Given the description of an element on the screen output the (x, y) to click on. 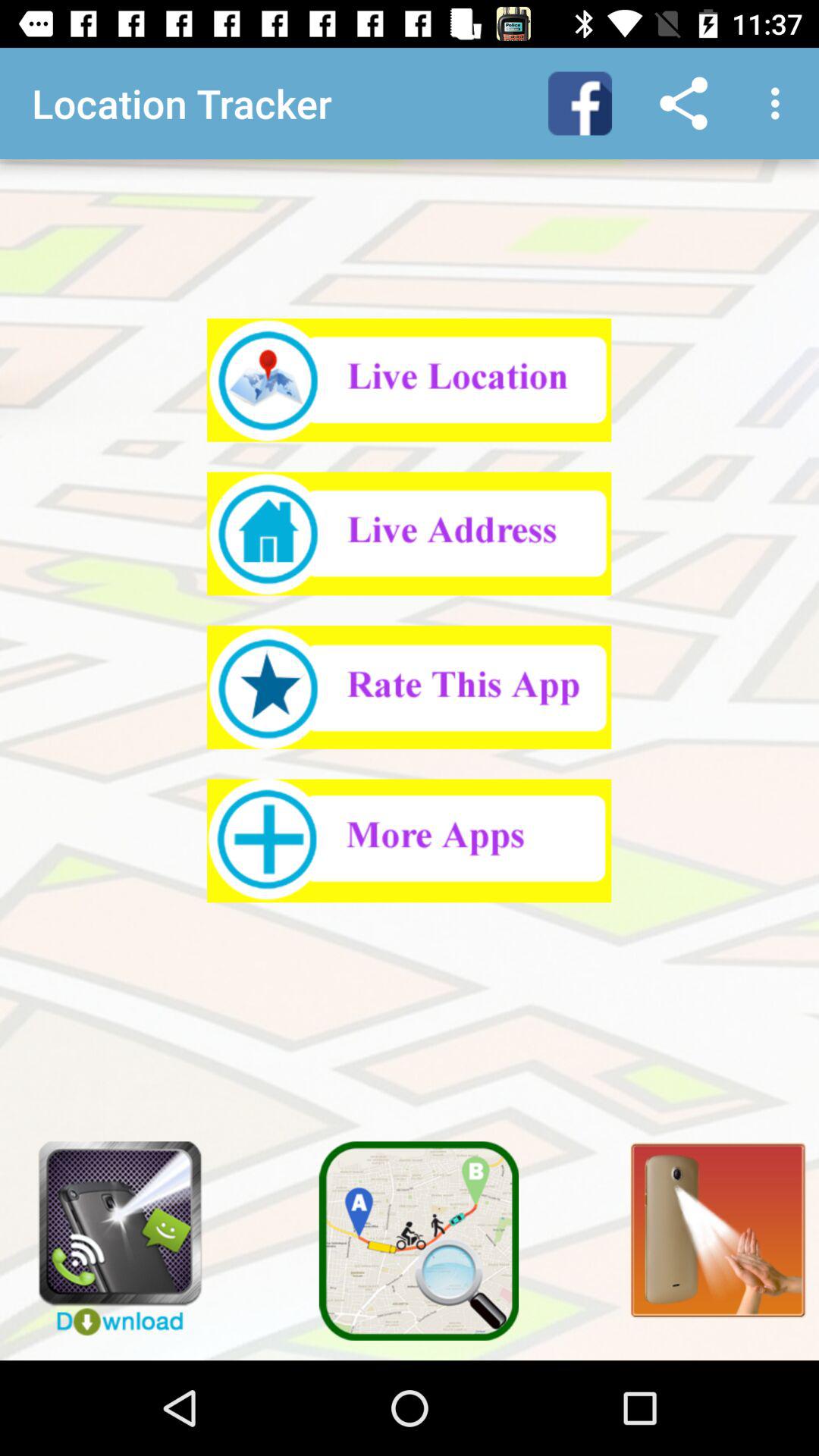
choose a location tracker (409, 533)
